Given the description of an element on the screen output the (x, y) to click on. 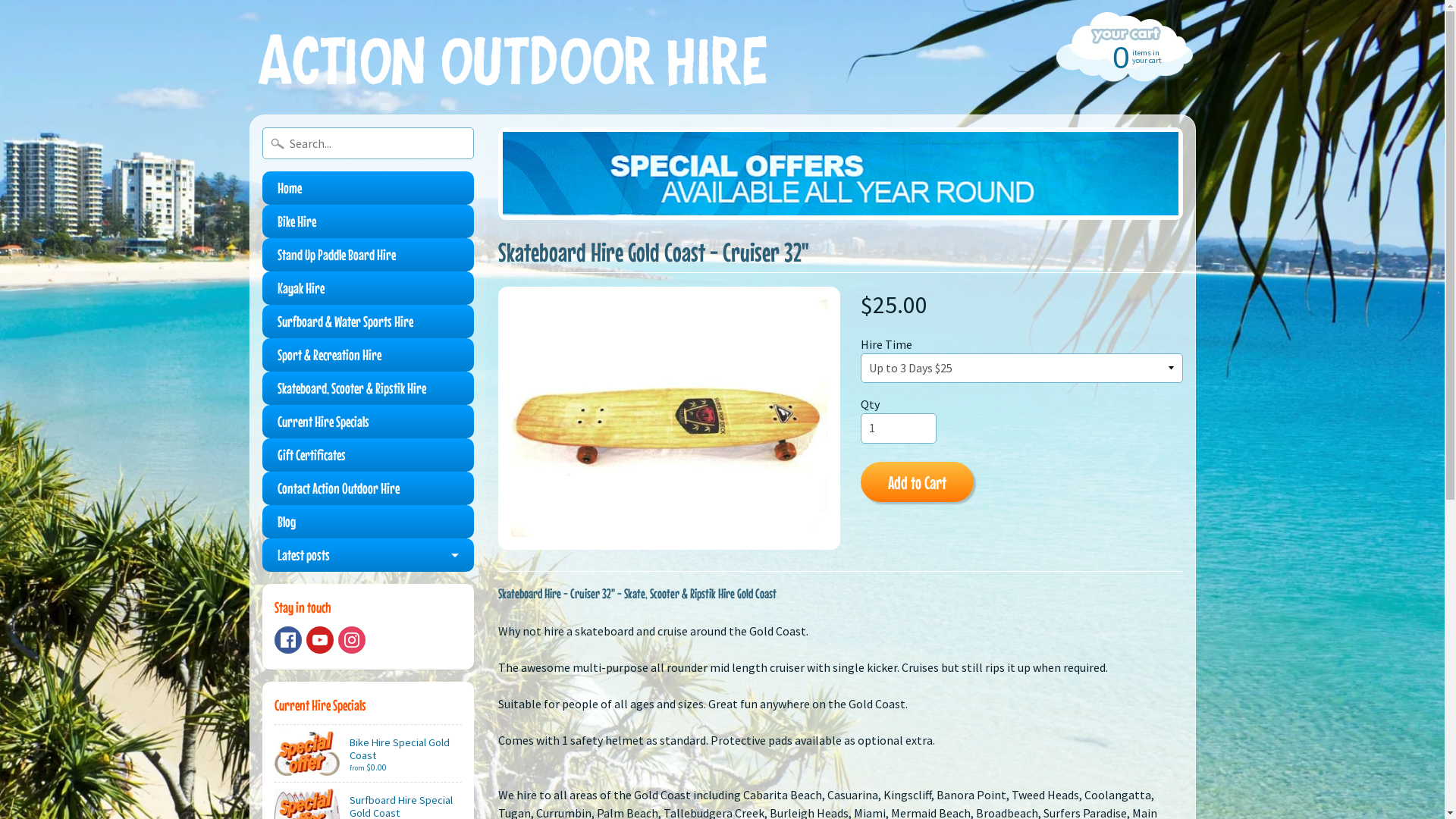
Sport & Recreation Hire Element type: text (368, 354)
Instagram Element type: hover (351, 639)
Contact Action Outdoor Hire Element type: text (368, 488)
Facebook Element type: hover (287, 639)
Surfboard & Water Sports Hire Element type: text (368, 321)
Add to Cart Element type: text (916, 481)
Kayak Hire Element type: text (368, 287)
Youtube Element type: hover (319, 639)
Action Outdoor Hire Element type: hover (513, 57)
Bike Hire Special Gold Coast
from $0.00 Element type: text (368, 752)
Stand Up Paddle Board Hire Element type: text (368, 254)
Gift Certificates Element type: text (368, 454)
Home Element type: text (368, 187)
0
items in your cart Element type: text (1122, 56)
Latest posts Element type: text (368, 554)
Current Hire Specials Element type: text (368, 421)
Bike Hire Element type: text (368, 221)
Blog Element type: text (368, 521)
Skateboard, Scooter & Ripstik Hire Element type: text (368, 387)
